Given the description of an element on the screen output the (x, y) to click on. 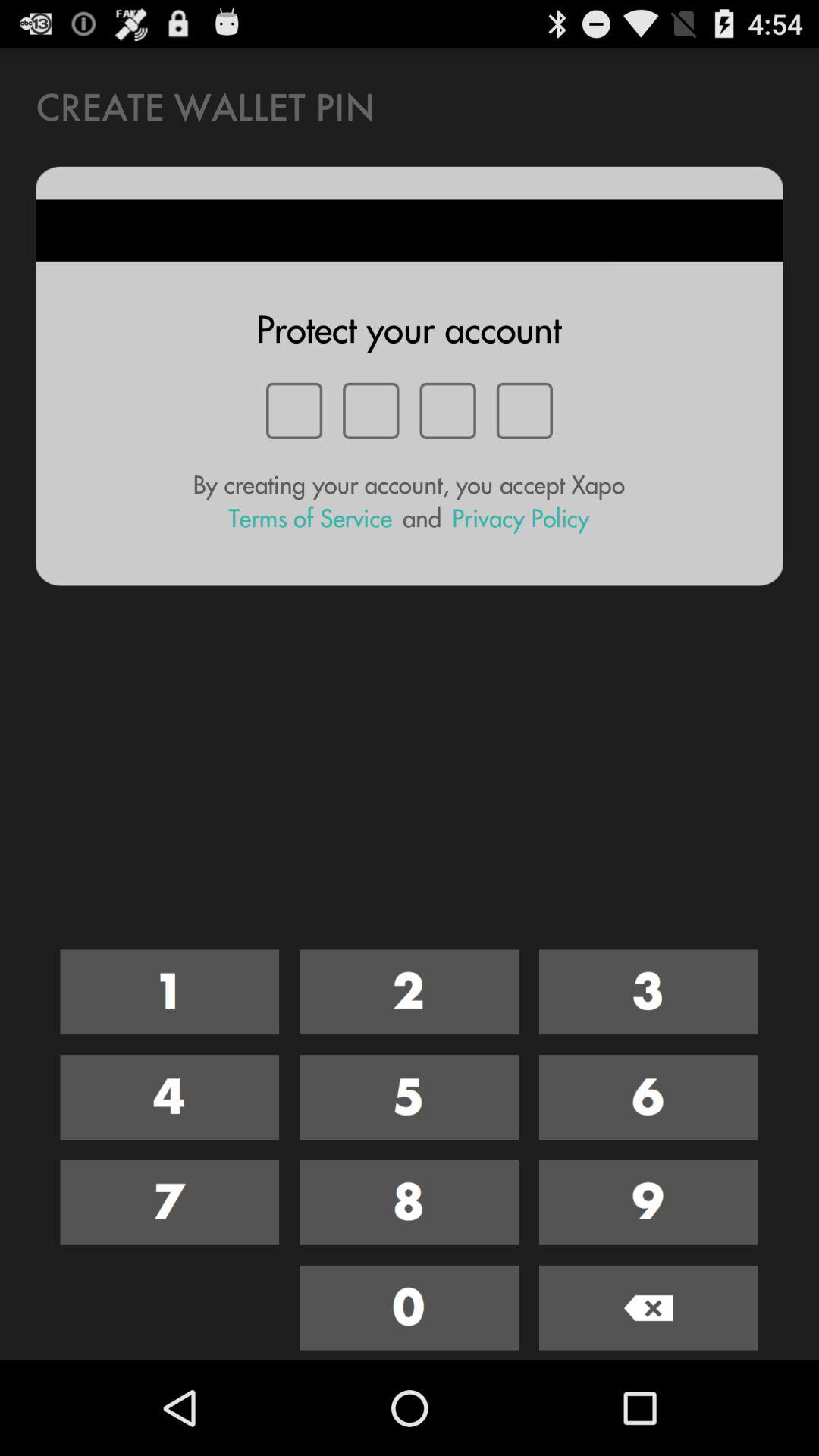
press number eight (408, 1202)
